Given the description of an element on the screen output the (x, y) to click on. 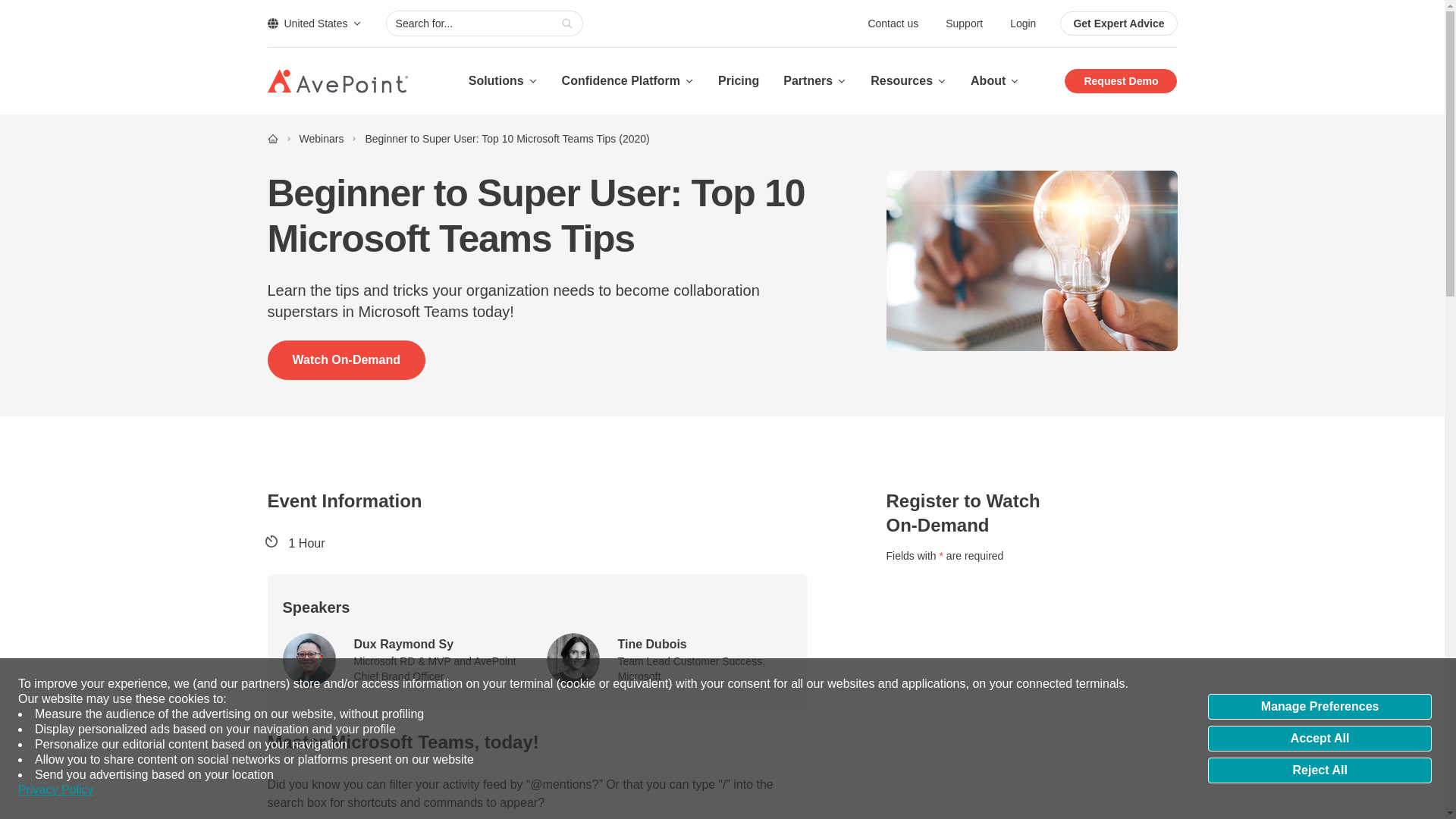
Search (566, 23)
Manage Preferences (1319, 706)
United States (313, 23)
Login (1022, 23)
Accept All (1319, 738)
Solutions (502, 80)
Confidence Platform (628, 80)
Privacy Policy (55, 789)
Contact us (894, 23)
Support (964, 23)
